Given the description of an element on the screen output the (x, y) to click on. 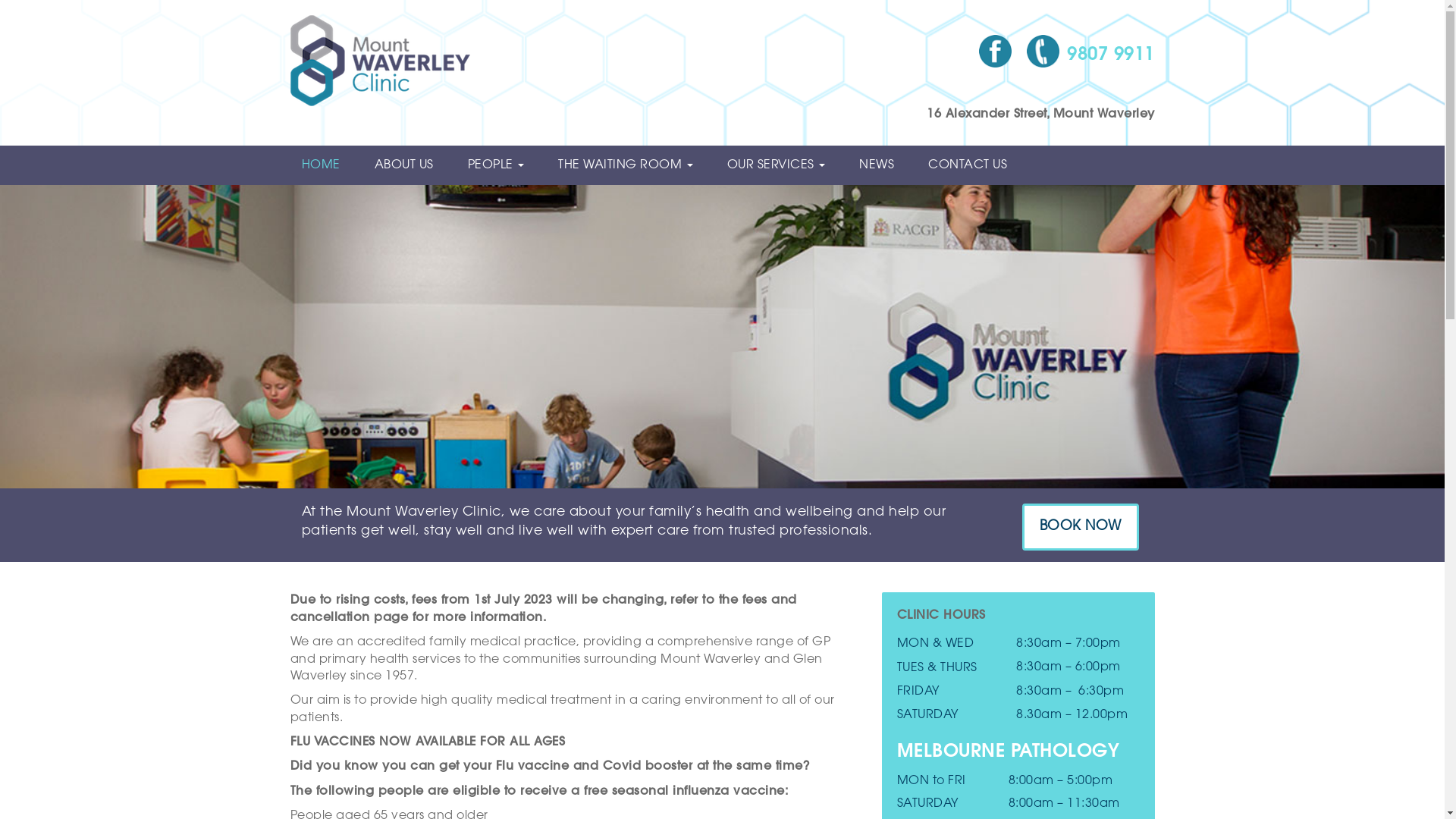
CONTACT US Element type: text (972, 165)
OUR SERVICES Element type: text (781, 165)
9807 9911 Element type: text (1090, 56)
ABOUT US Element type: text (408, 165)
PEOPLE Element type: text (501, 165)
BOOK NOW Element type: text (1080, 526)
THE WAITING ROOM Element type: text (630, 165)
HOME Element type: text (325, 165)
NEWS Element type: text (881, 165)
